Given the description of an element on the screen output the (x, y) to click on. 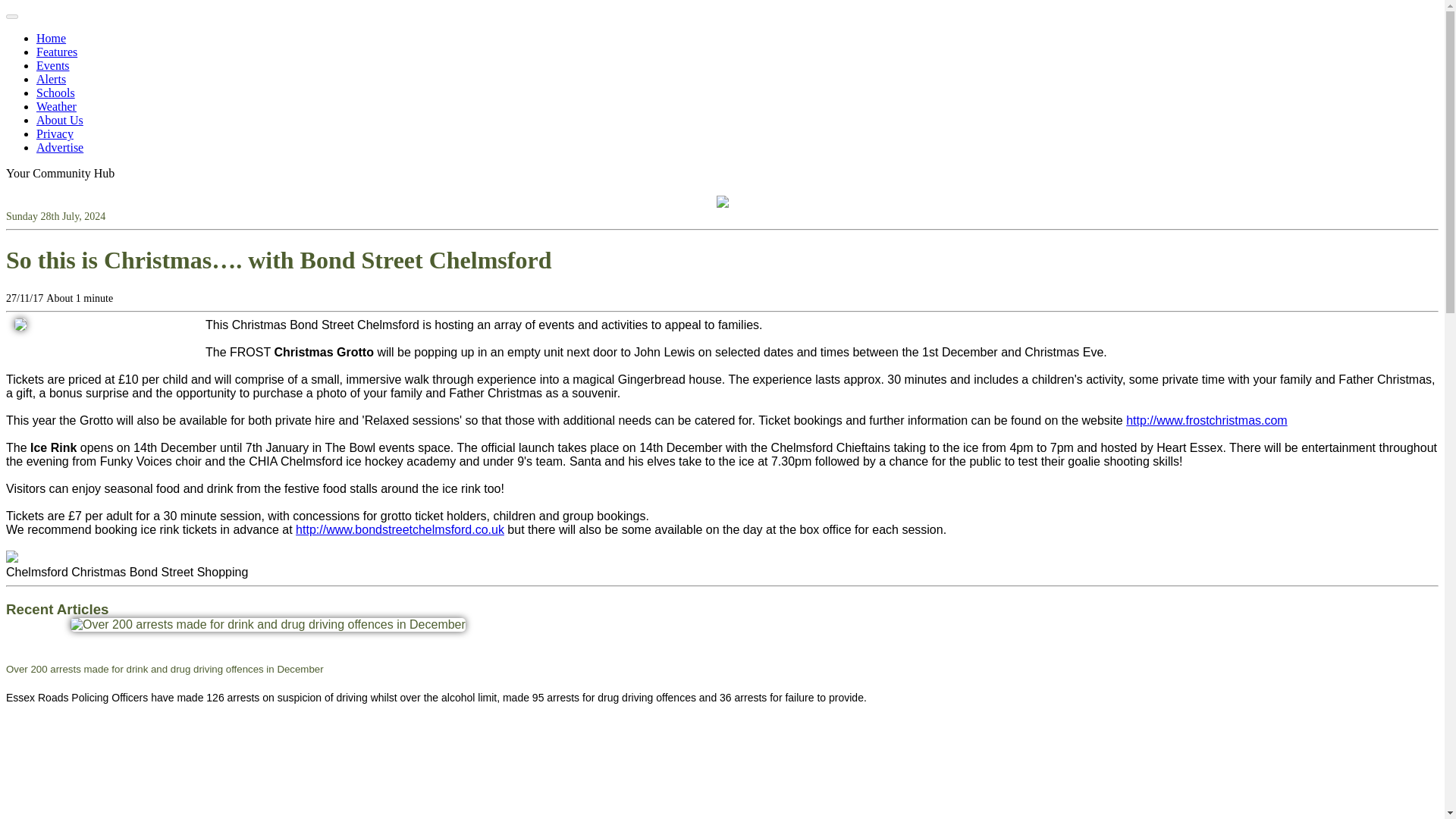
About Us (59, 119)
Schools (55, 92)
Home (50, 38)
Advertise (59, 146)
Privacy (55, 133)
Events (52, 65)
Weather (56, 106)
Alerts (50, 78)
Features (56, 51)
